Given the description of an element on the screen output the (x, y) to click on. 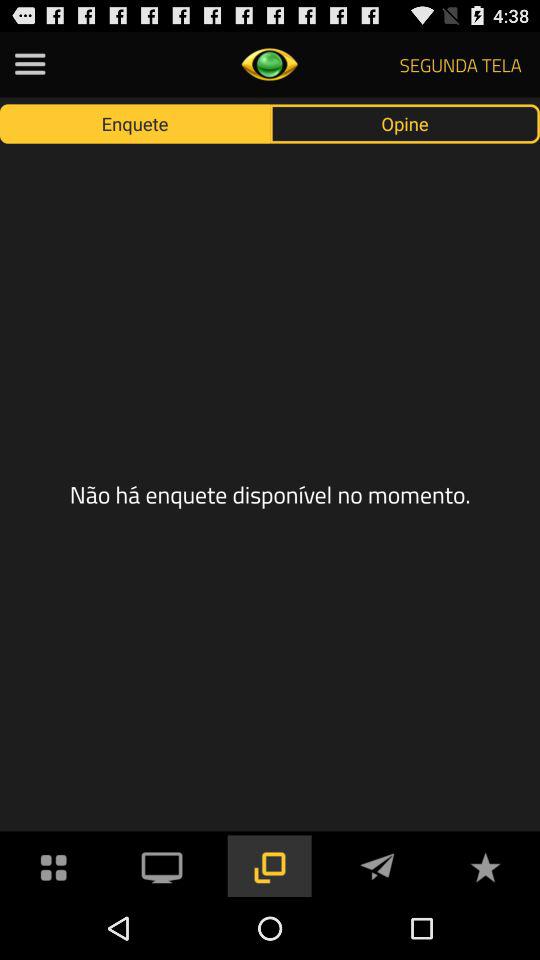
view different sections (29, 64)
